Given the description of an element on the screen output the (x, y) to click on. 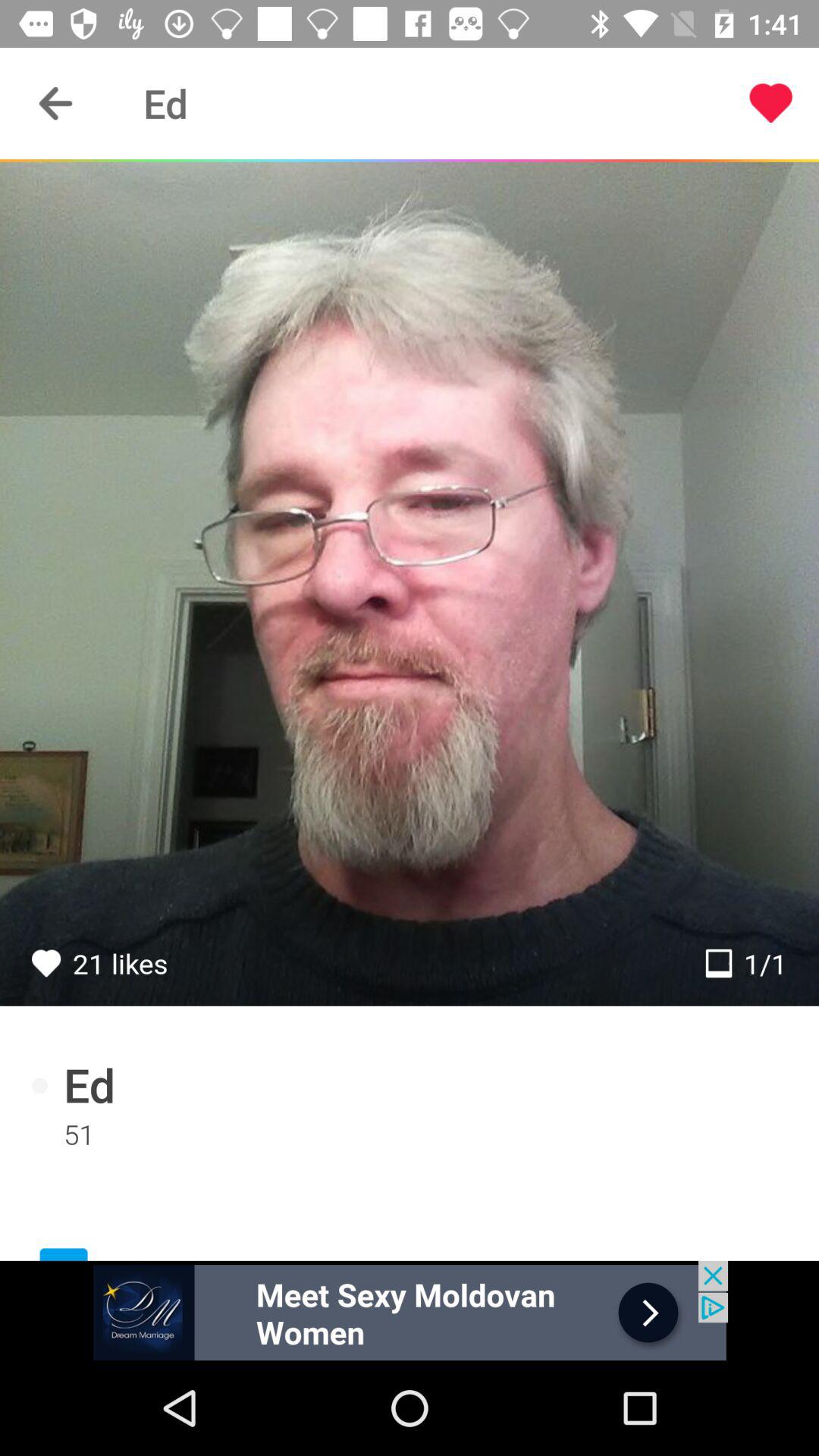
click for more info (409, 1310)
